Given the description of an element on the screen output the (x, y) to click on. 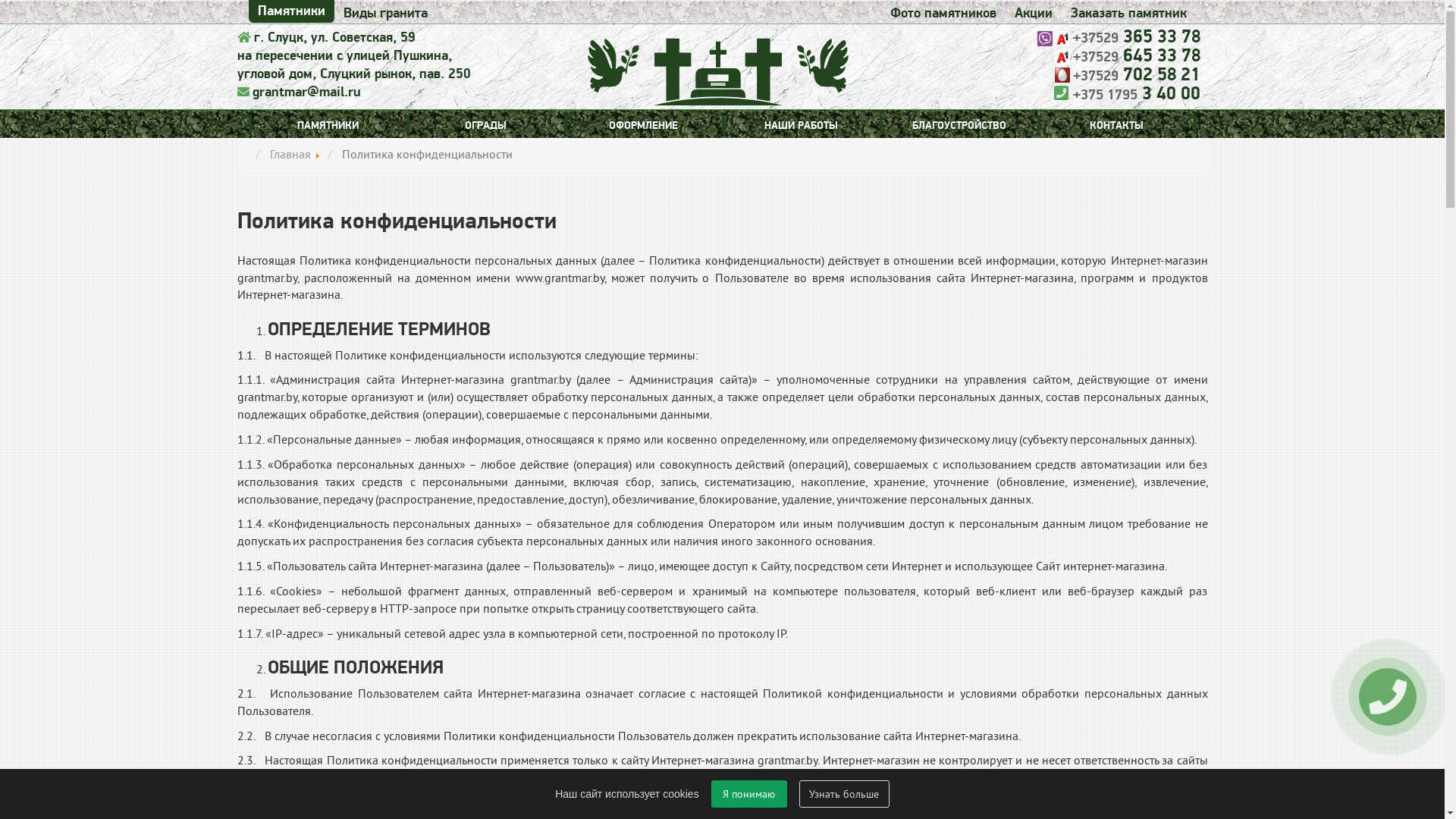
 +375 1795 3 40 00 Element type: text (1134, 93)
grantmar@mail.ru Element type: text (305, 91)
+37529 645 33 78 Element type: text (1135, 55)
+37529 702 58 21 Element type: text (1135, 74)
+37529 365 33 78 Element type: text (1135, 36)
